Given the description of an element on the screen output the (x, y) to click on. 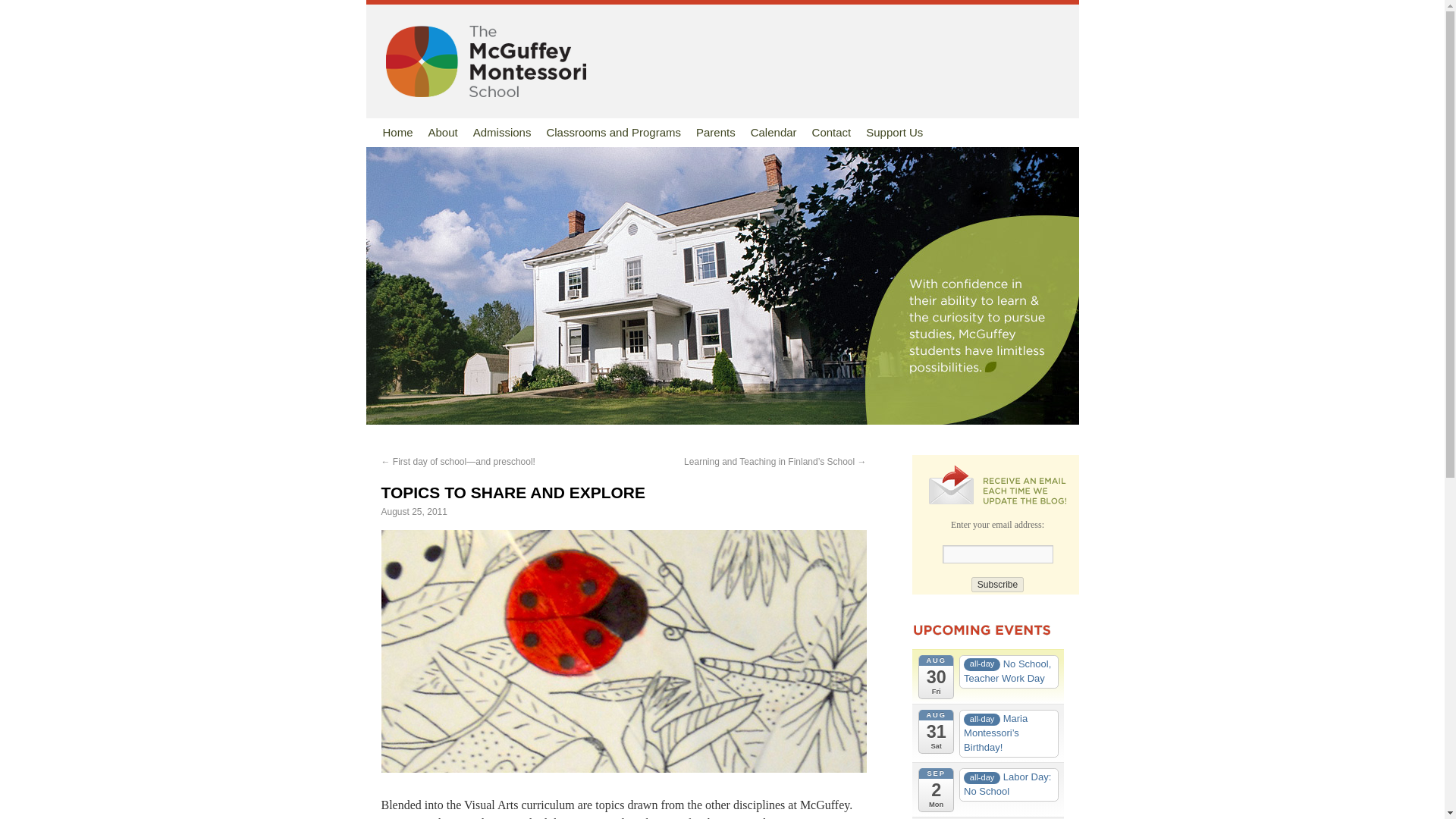
5:13 pm (413, 511)
Subscribe (997, 584)
McGuffey Montessori (478, 60)
Classrooms and Programs (613, 132)
Support Us (894, 132)
Admissions (501, 132)
Calendar (773, 132)
Contact (832, 132)
About (442, 132)
